Given the description of an element on the screen output the (x, y) to click on. 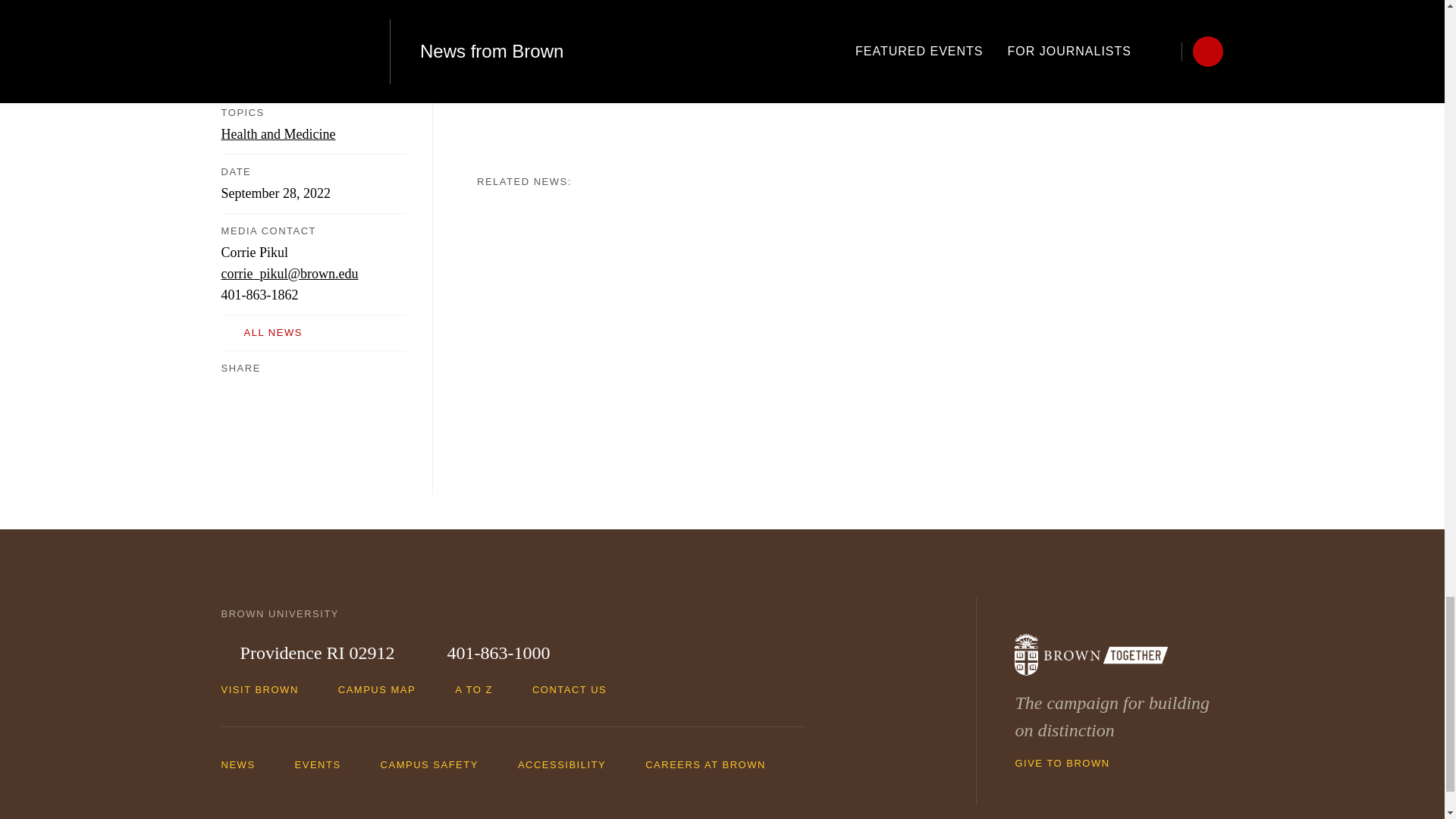
CONTACT US (576, 688)
401-863-1000 (489, 653)
CAMPUS MAP (383, 688)
VISIT BROWN (267, 688)
CAMPUS SAFETY (436, 764)
Research (510, 89)
Warren Alpert Medical School (631, 89)
A TO Z (481, 688)
NEWS (245, 764)
Providence RI 02912 (307, 653)
